Given the description of an element on the screen output the (x, y) to click on. 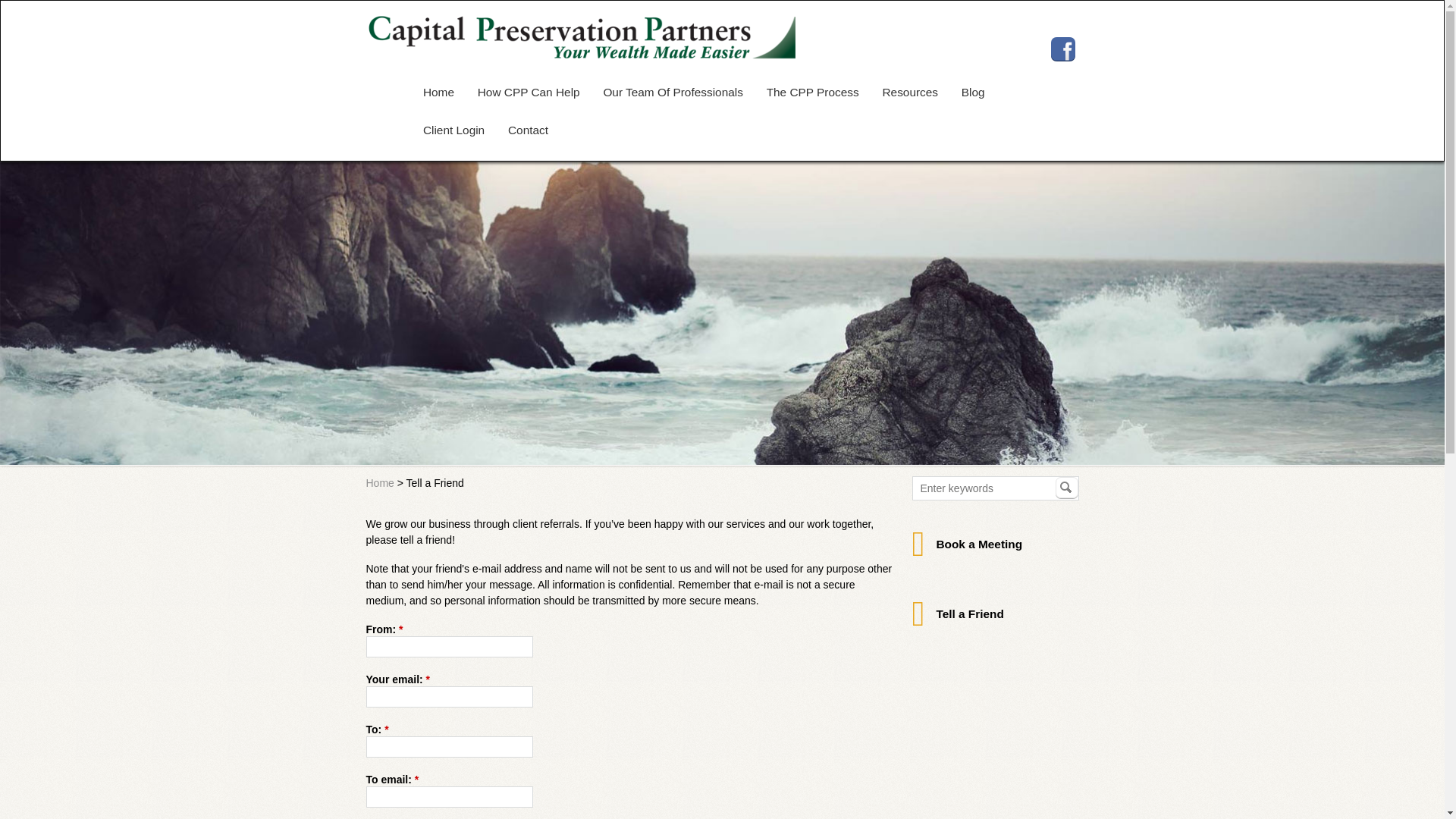
Our Team Of Professionals (672, 91)
The CPP Process (812, 91)
Blog (972, 91)
Client Login (453, 130)
Home (437, 91)
Contact (528, 130)
Home (437, 91)
Contact Us (528, 130)
Resources (909, 91)
Client Login (453, 130)
Search (1066, 486)
Search (1066, 486)
Blog (972, 91)
Enter the terms you wish to search for. (994, 487)
Home (379, 482)
